Given the description of an element on the screen output the (x, y) to click on. 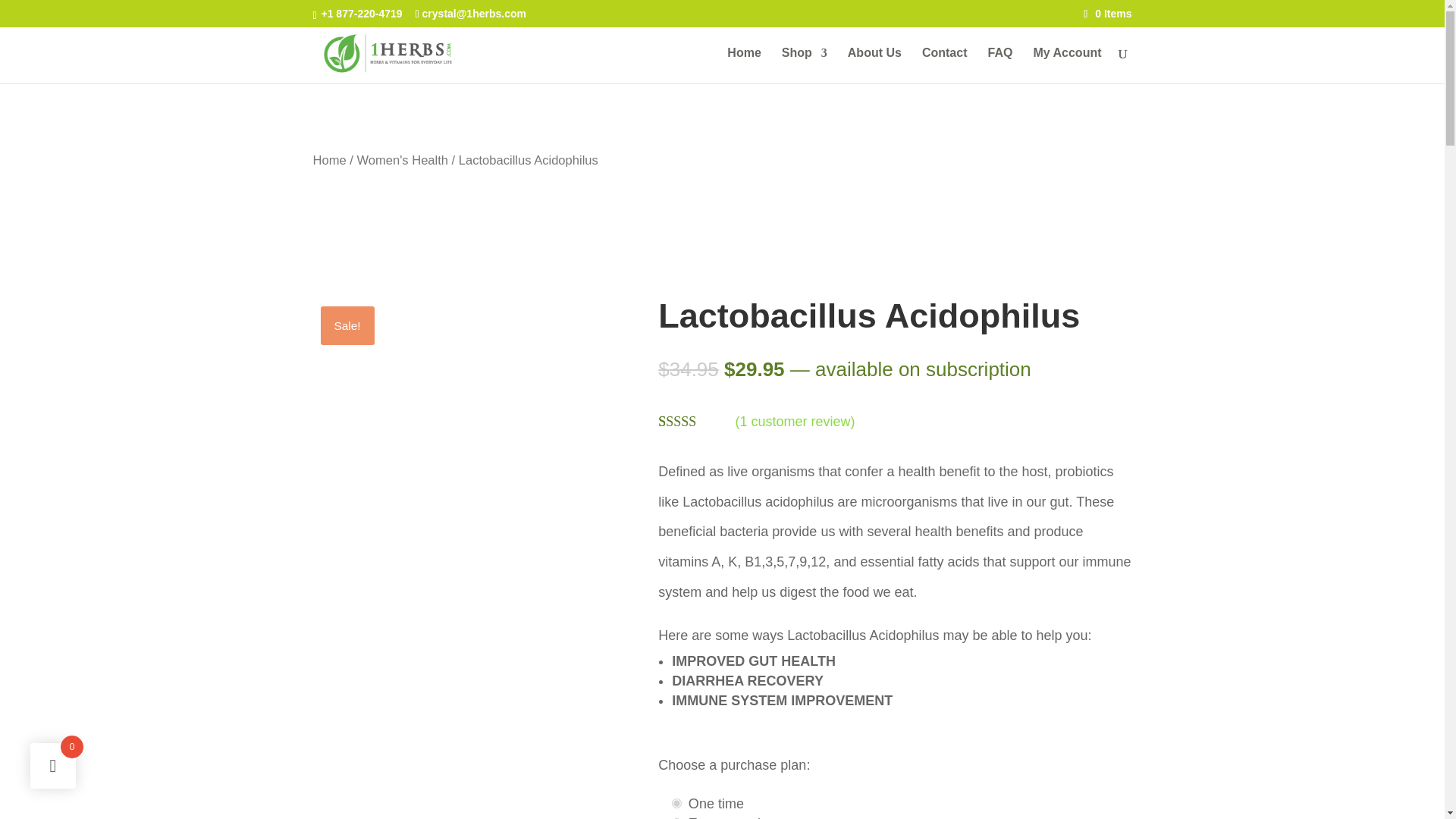
Women's Health (402, 160)
About Us (874, 65)
Shop (804, 65)
Contact (944, 65)
Home (329, 160)
0 Items (1107, 13)
My Account (1066, 65)
Home (743, 65)
0 (676, 803)
